Given the description of an element on the screen output the (x, y) to click on. 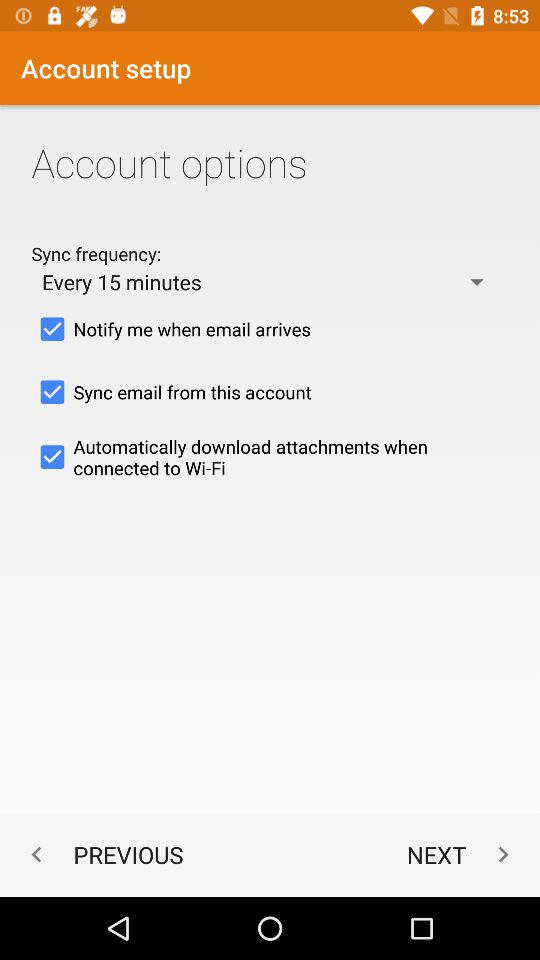
tap icon above the previous app (269, 457)
